Given the description of an element on the screen output the (x, y) to click on. 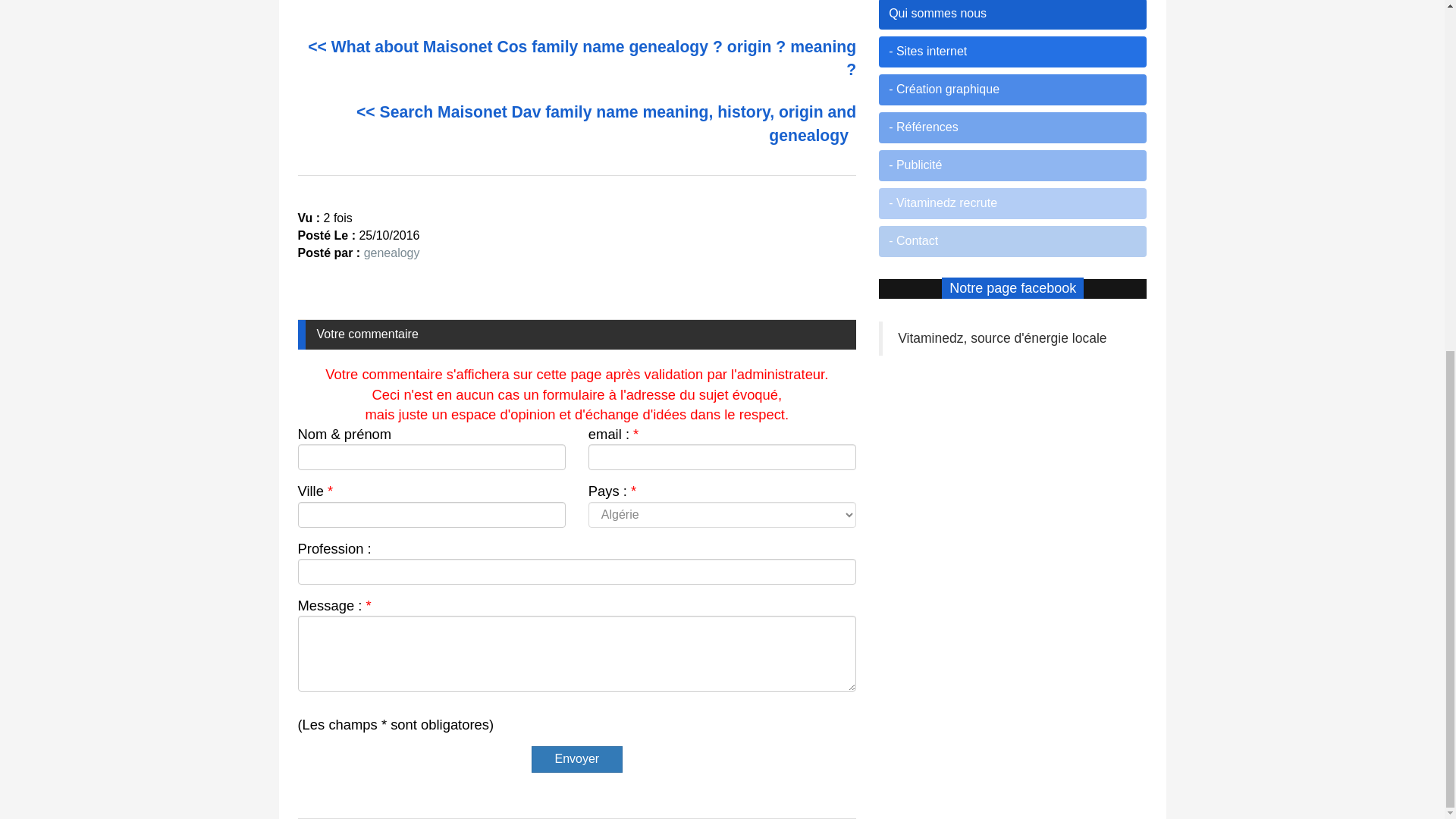
Qui sommes nous (1013, 14)
- Sites internet (1013, 51)
genealogy (392, 252)
Envoyer (577, 759)
- Vitaminedz recrute (1013, 203)
- Contact (1013, 241)
